Given the description of an element on the screen output the (x, y) to click on. 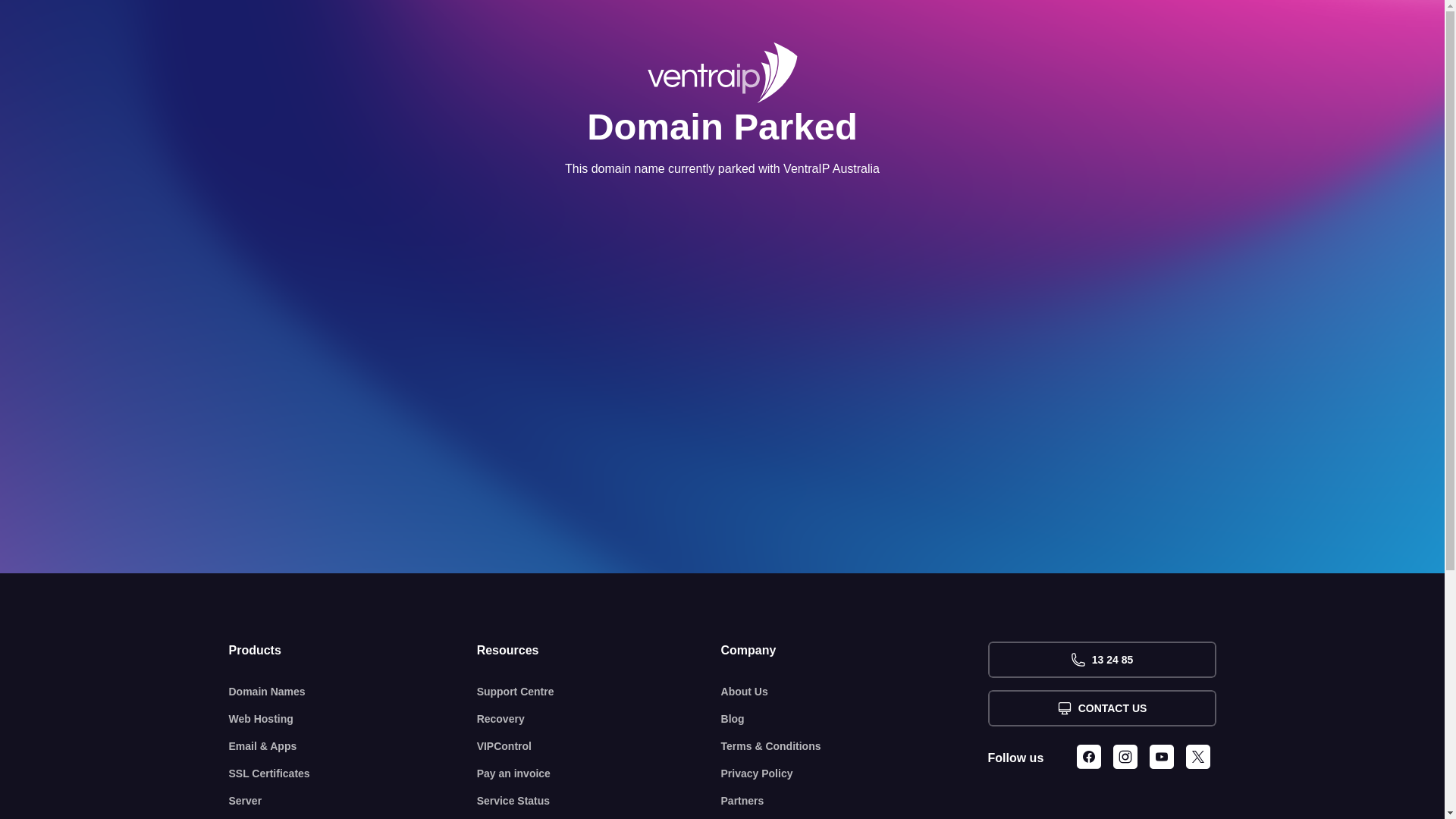
About Us Element type: text (854, 691)
Service Status Element type: text (598, 800)
SSL Certificates Element type: text (352, 773)
Partners Element type: text (854, 800)
Web Hosting Element type: text (352, 718)
CONTACT US Element type: text (1101, 708)
VIPControl Element type: text (598, 745)
13 24 85 Element type: text (1101, 659)
Support Centre Element type: text (598, 691)
Privacy Policy Element type: text (854, 773)
Recovery Element type: text (598, 718)
Blog Element type: text (854, 718)
Domain Names Element type: text (352, 691)
Email & Apps Element type: text (352, 745)
Server Element type: text (352, 800)
Terms & Conditions Element type: text (854, 745)
Pay an invoice Element type: text (598, 773)
